Given the description of an element on the screen output the (x, y) to click on. 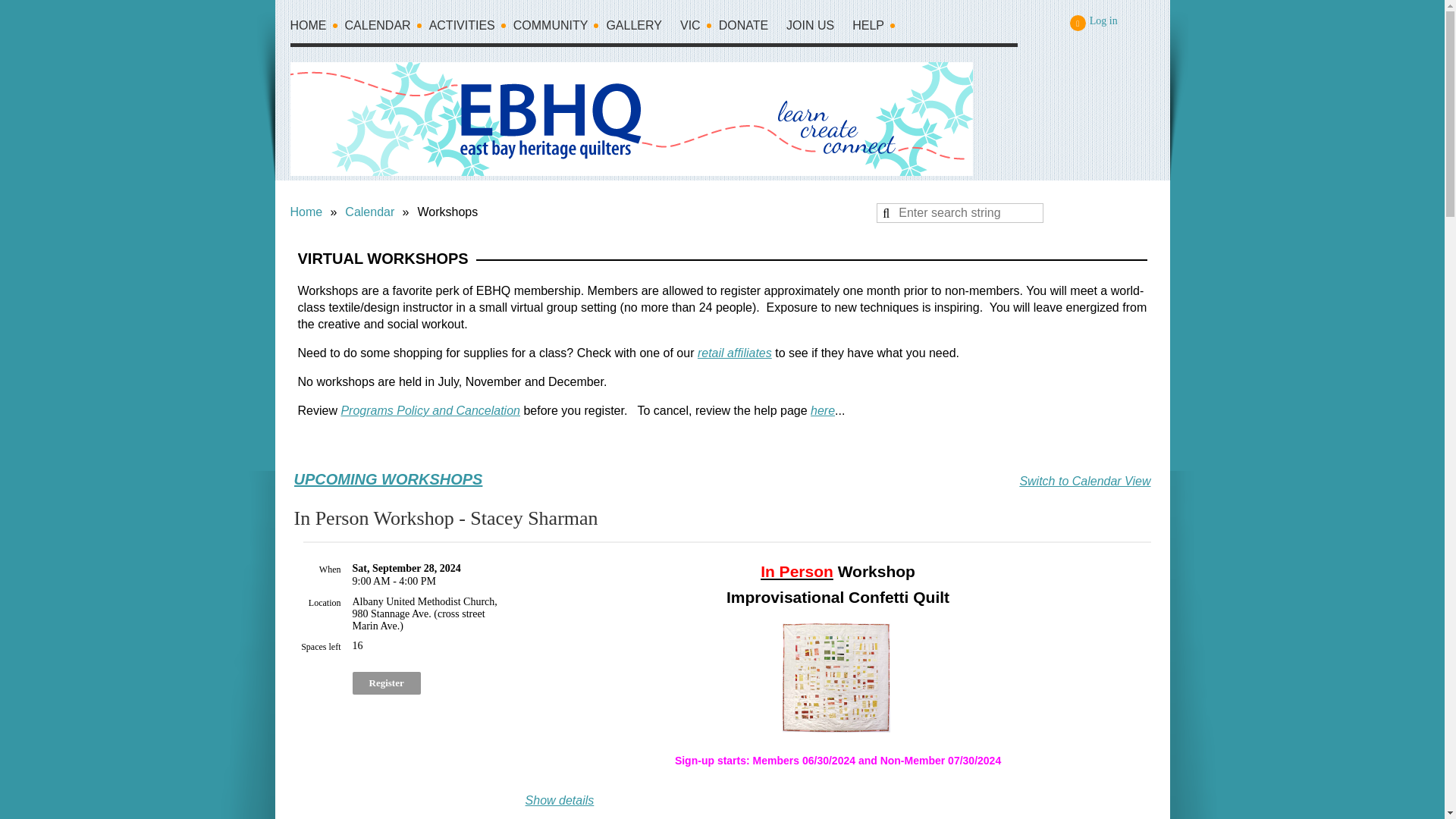
Home (316, 29)
Calendar (385, 29)
CALENDAR (385, 29)
HOME (316, 29)
ACTIVITIES (471, 29)
Register (386, 682)
